Given the description of an element on the screen output the (x, y) to click on. 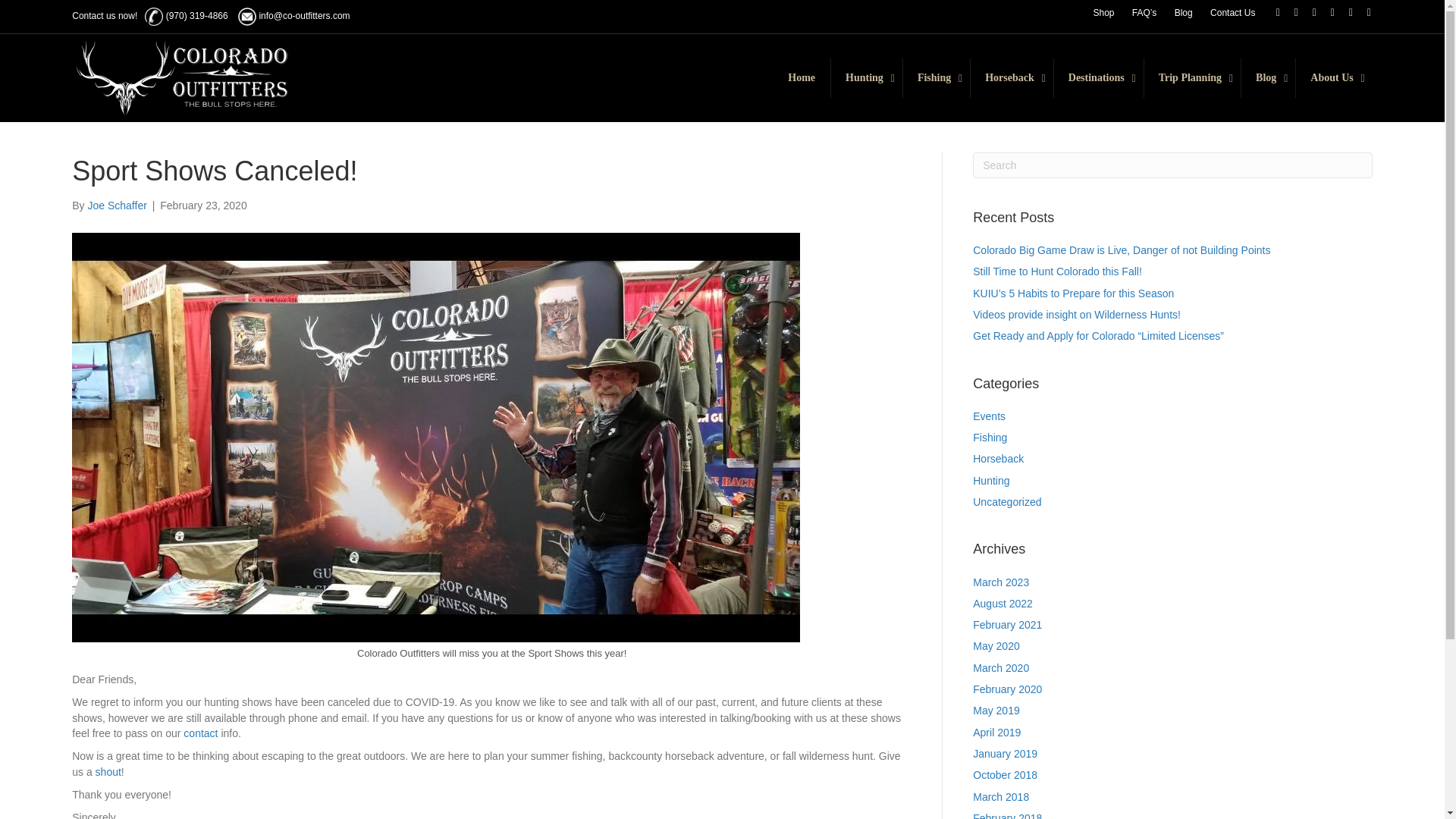
Type and press Enter to search. (1171, 165)
Shop (1102, 13)
